Given the description of an element on the screen output the (x, y) to click on. 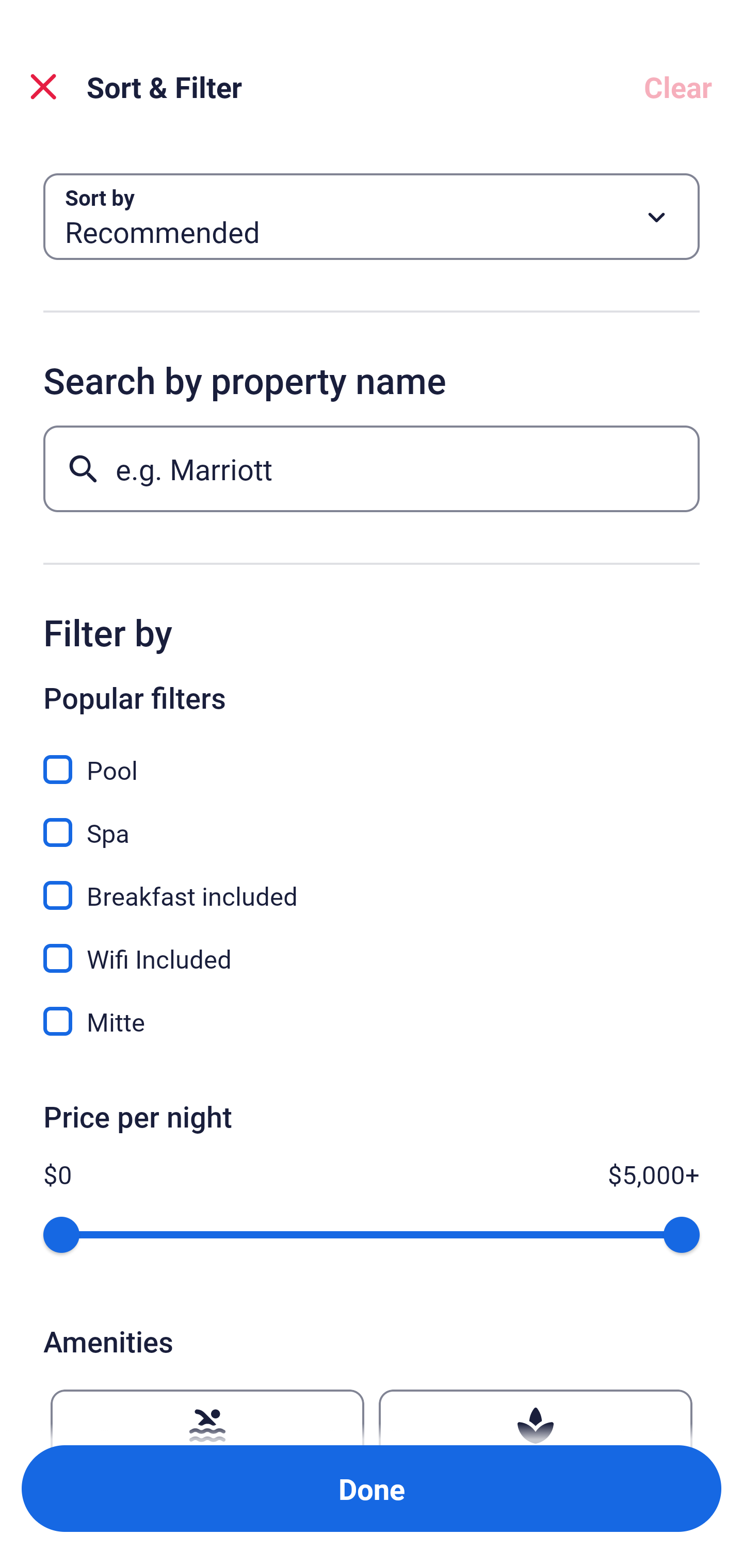
Close Sort and Filter (43, 86)
Clear (677, 86)
Sort by Button Recommended (371, 217)
e.g. Marriott Button (371, 468)
Pool, Pool (371, 757)
Spa, Spa (371, 821)
Breakfast included, Breakfast included (371, 883)
Wifi Included, Wifi Included (371, 946)
Mitte, Mitte (371, 1021)
Apply and close Sort and Filter Done (371, 1488)
